Given the description of an element on the screen output the (x, y) to click on. 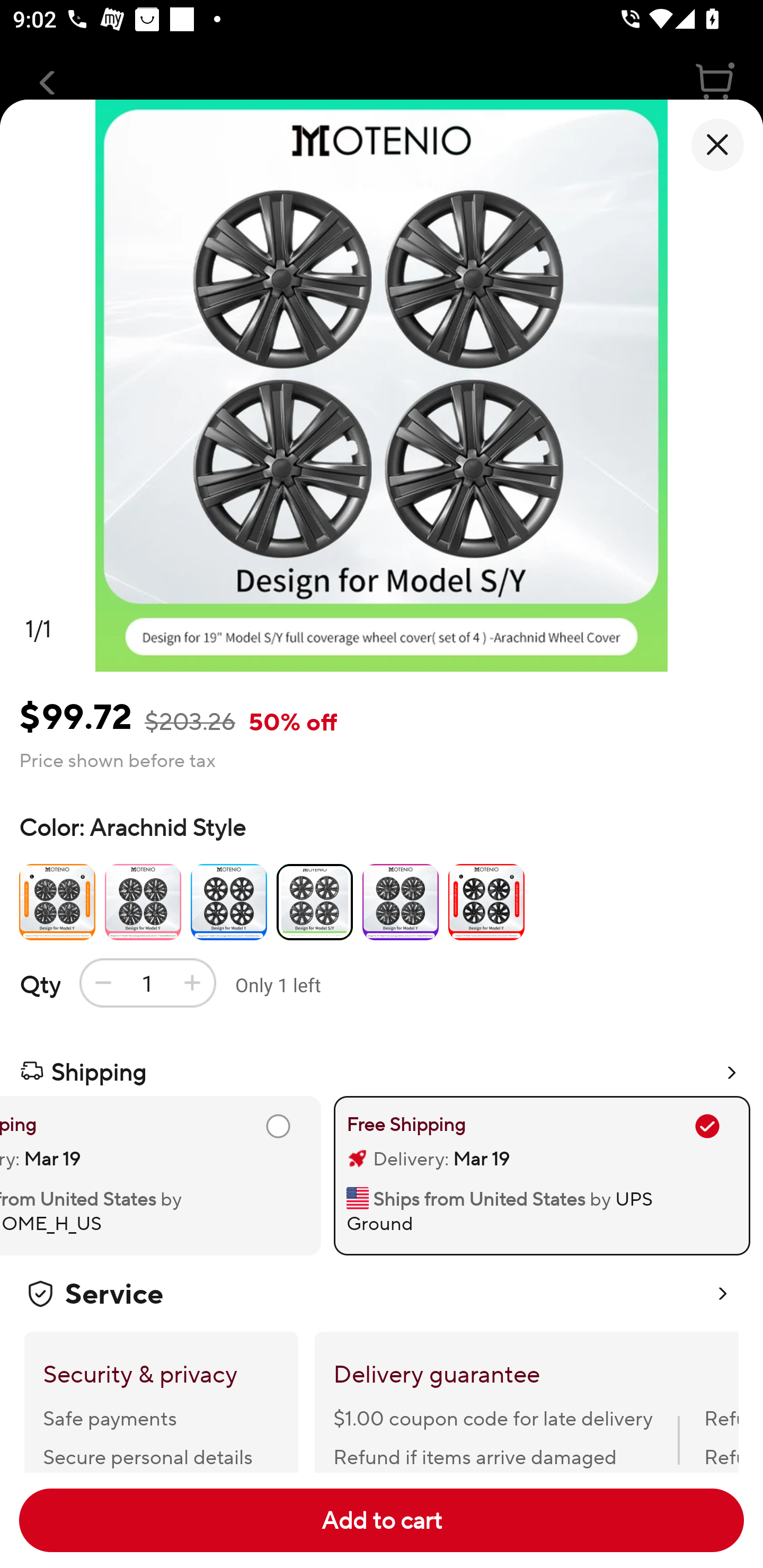
close  (717, 144)
Add to cart (381, 1520)
